Given the description of an element on the screen output the (x, y) to click on. 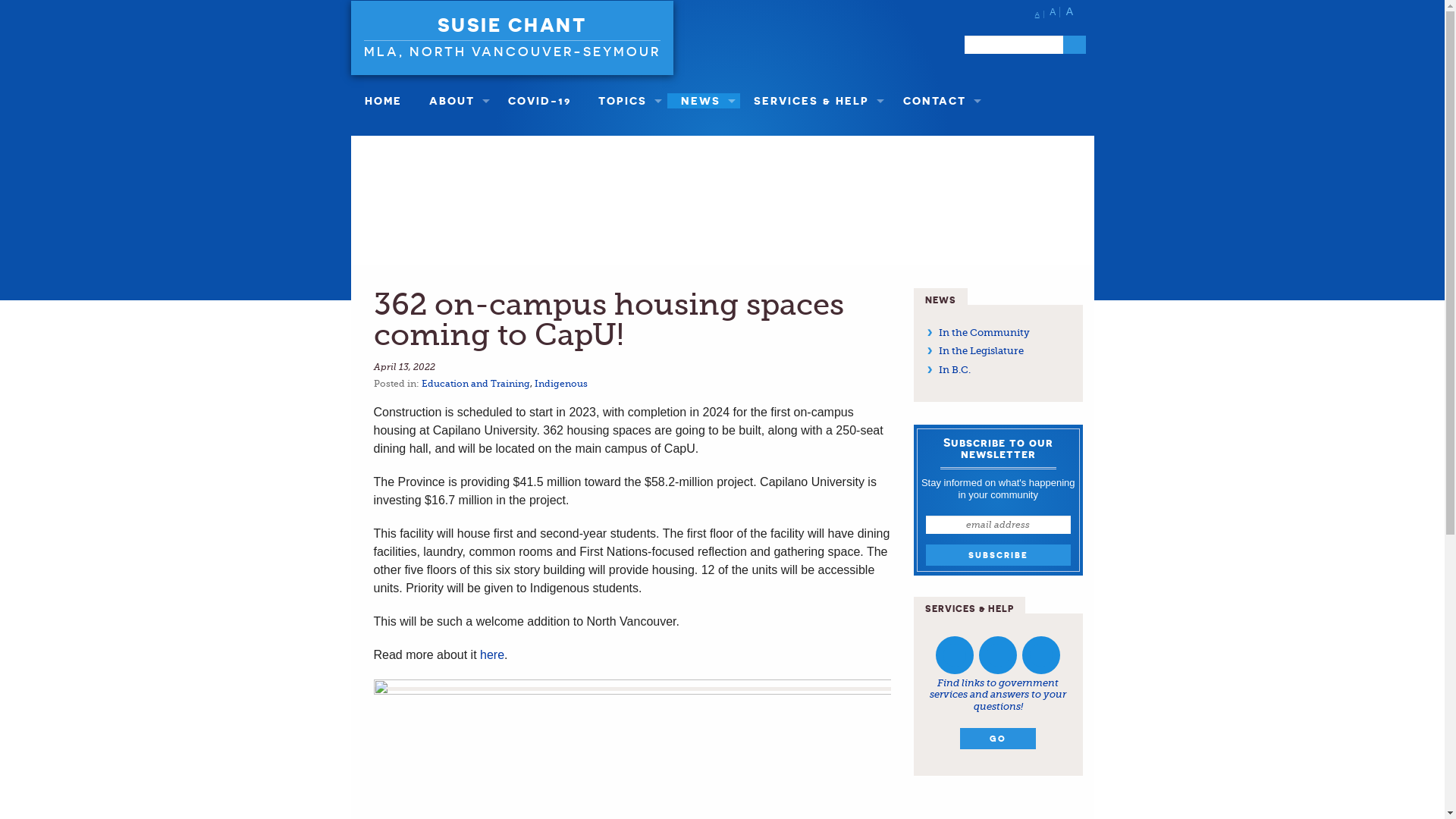
here Element type: text (492, 654)
A Element type: text (1071, 11)
SUSIE CHANT Element type: text (511, 24)
Education and Training Element type: text (475, 383)
NEWS Element type: text (703, 100)
A Element type: text (1039, 14)
TOPICS Element type: text (625, 100)
Subscribe Element type: text (997, 554)
HOME Element type: text (382, 100)
SERVICES & HELP Element type: text (814, 100)
In the Legislature Element type: text (980, 350)
Go Element type: text (1074, 44)
In the Community Element type: text (983, 332)
April 13, 2022 Element type: text (403, 366)
GO Element type: text (997, 738)
ABOUT Element type: text (455, 100)
Indigenous Element type: text (559, 383)
COVID-19 Element type: text (539, 100)
A Element type: text (1054, 11)
In B.C. Element type: text (954, 369)
MLA, NORTH VANCOUVER-SEYMOUR Element type: text (512, 49)
CONTACT Element type: text (937, 100)
